Given the description of an element on the screen output the (x, y) to click on. 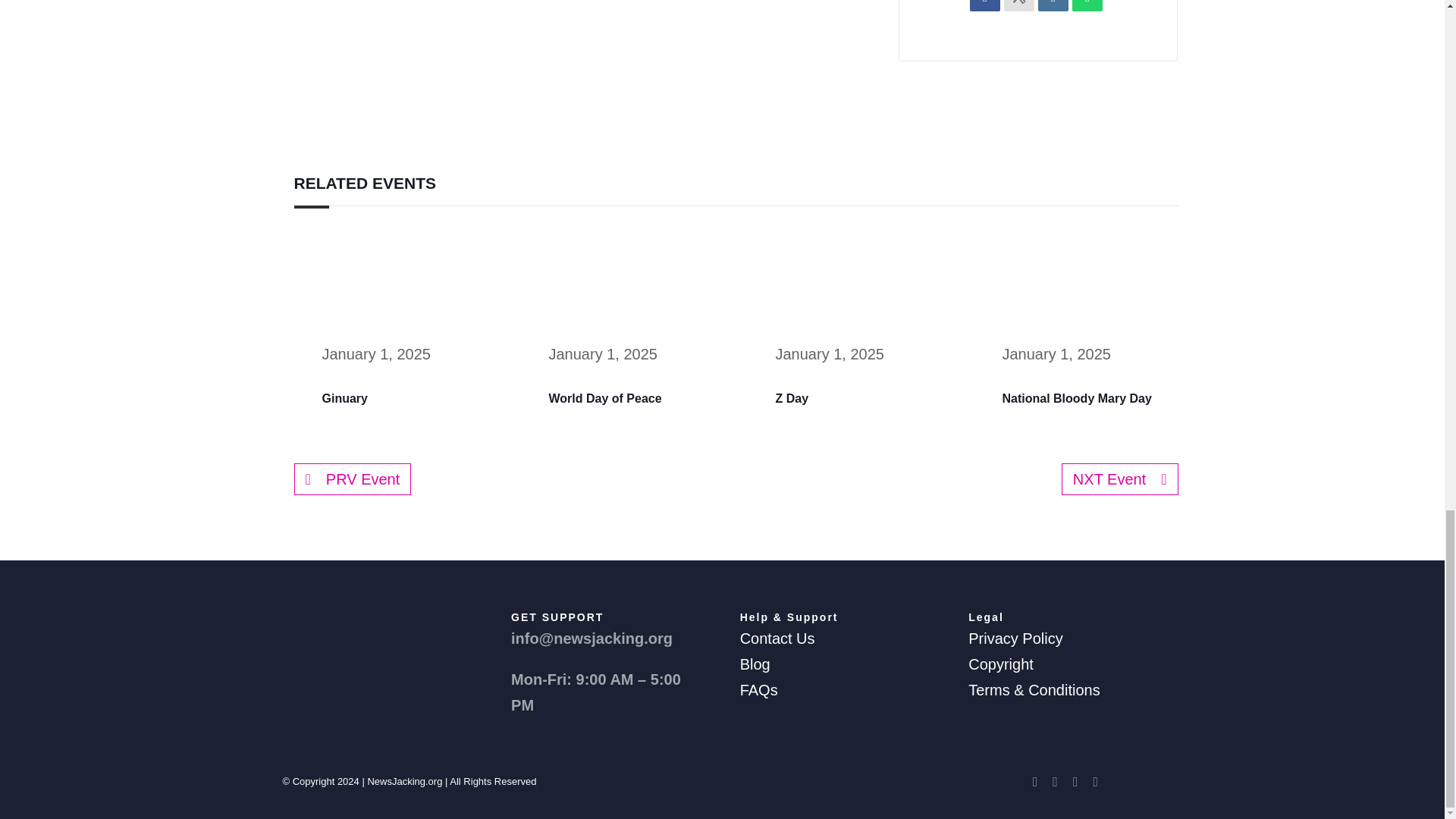
Share on Facebook (984, 5)
Share on WhatsApp (1086, 5)
Linkedin (1053, 5)
X Social Network (1018, 5)
